Given the description of an element on the screen output the (x, y) to click on. 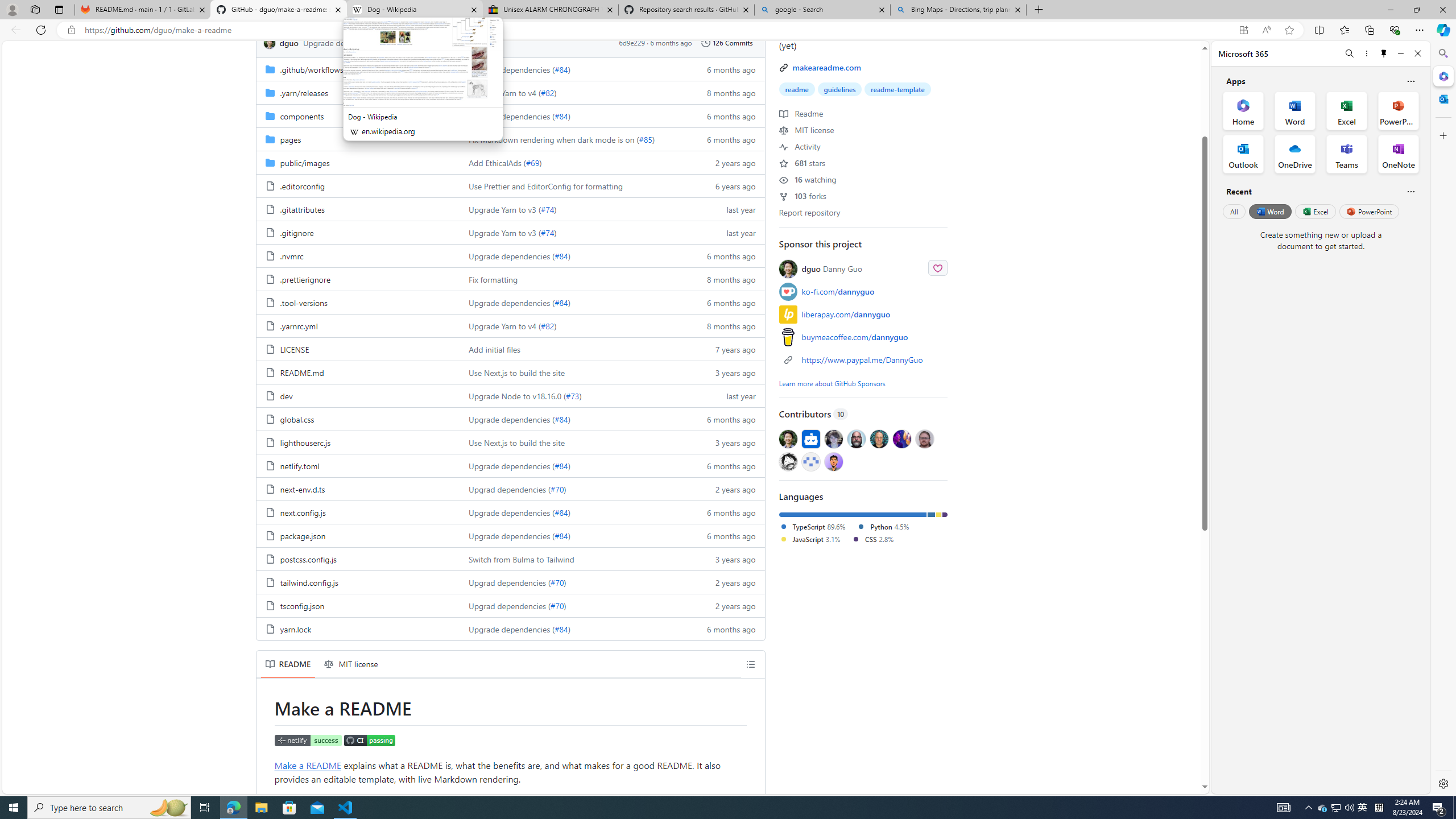
.gitignore, (File) (358, 232)
AutomationID: folder-row-9 (510, 278)
Add EthicalAds ( (496, 162)
Tab actions menu (58, 9)
Commit 6d9e229 (631, 42)
8 months ago (725, 325)
681 stars (801, 162)
ko-fi.com/dannyguo (837, 291)
postcss.config.js, (File) (307, 559)
AutomationID: folder-row-22 (510, 581)
package.json, (File) (302, 535)
Python 4.5% (883, 525)
Upgrade Node to v18.16.0 ( (517, 395)
@web3Gurung (833, 461)
